Given the description of an element on the screen output the (x, y) to click on. 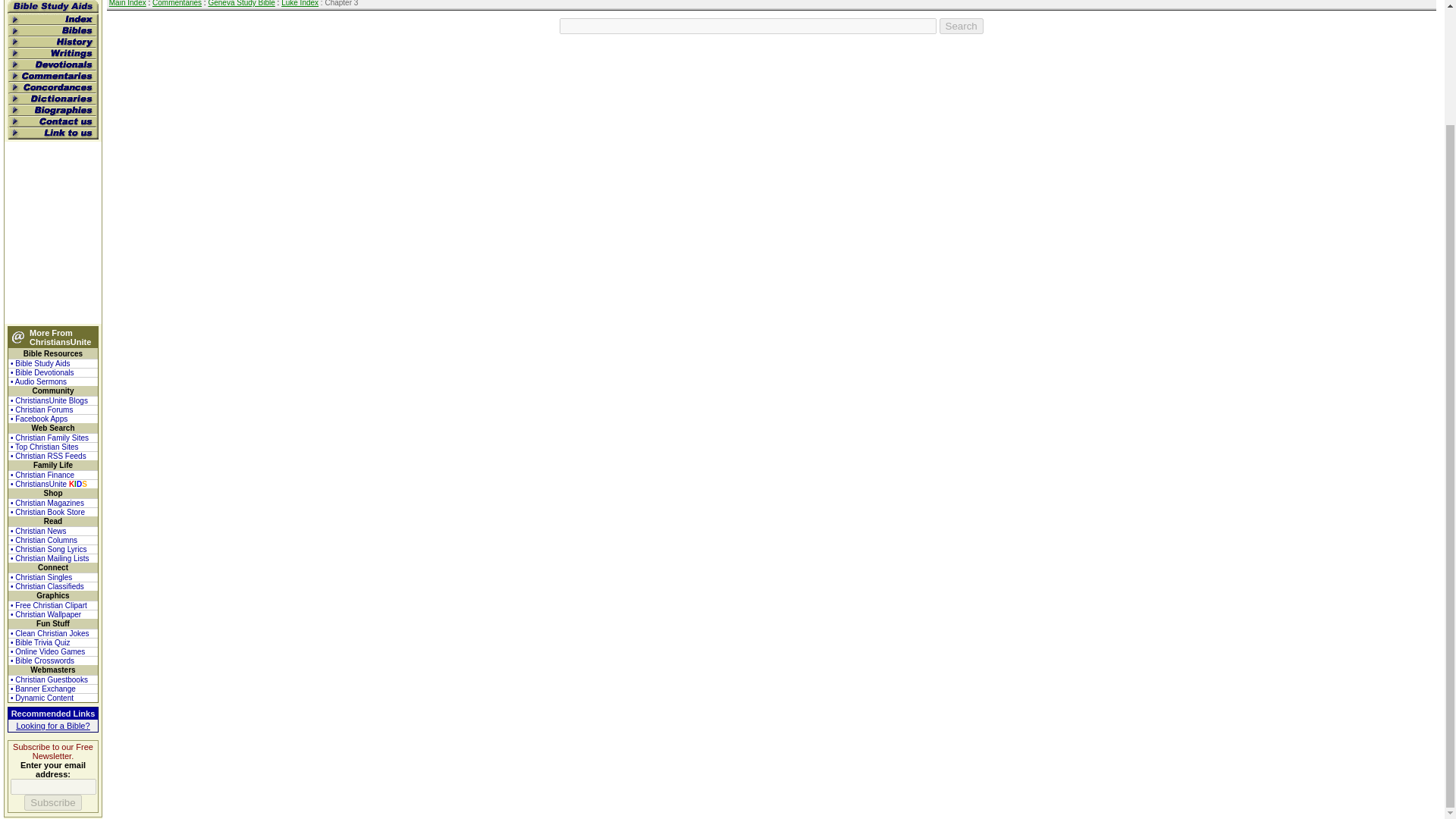
Commentaries (177, 3)
Search (961, 26)
Luke Index (299, 3)
Looking for a Bible? (52, 725)
Main Index (128, 3)
Geneva Study Bible (241, 3)
Subscribe (52, 802)
Subscribe (52, 802)
Search (961, 26)
